Given the description of an element on the screen output the (x, y) to click on. 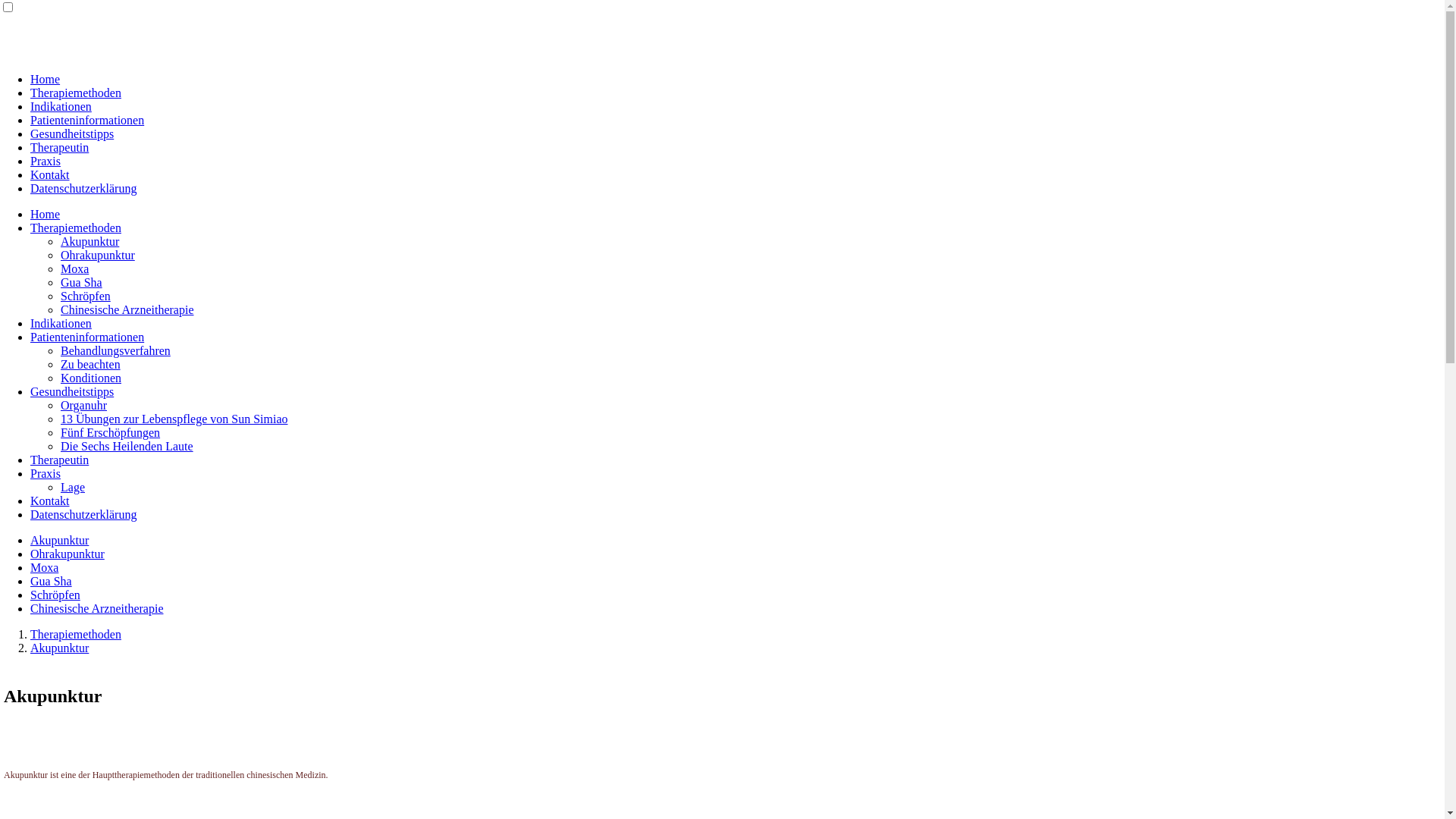
Therapiemethoden Element type: text (75, 92)
Ohrakupunktur Element type: text (97, 254)
Kontakt Element type: text (49, 500)
Moxa Element type: text (44, 567)
Chinesische Arzneitherapie Element type: text (127, 309)
Indikationen Element type: text (60, 322)
Therapeutin Element type: text (59, 147)
Lage Element type: text (72, 486)
Behandlungsverfahren Element type: text (115, 350)
Therapiemethoden Element type: text (75, 227)
Gua Sha Element type: text (51, 580)
Gua Sha Element type: text (81, 282)
Zu beachten Element type: text (90, 363)
Patienteninformationen Element type: text (87, 119)
Gesundheitstipps Element type: text (71, 391)
Akupunktur Element type: text (89, 241)
Therapeutin Element type: text (59, 459)
Organuhr Element type: text (83, 404)
Die Sechs Heilenden Laute Element type: text (126, 445)
Patienteninformationen Element type: text (87, 336)
Konditionen Element type: text (90, 377)
Praxis Element type: text (45, 473)
Moxa Element type: text (74, 268)
Home Element type: text (44, 213)
Therapiemethoden Element type: text (75, 633)
Gesundheitstipps Element type: text (71, 133)
Kontakt Element type: text (49, 174)
Akupunktur Element type: text (59, 647)
Chinesische Arzneitherapie Element type: text (96, 608)
Indikationen Element type: text (60, 106)
Ohrakupunktur Element type: text (67, 553)
Home Element type: text (44, 78)
Akupunktur Element type: text (59, 539)
Praxis Element type: text (45, 160)
